Given the description of an element on the screen output the (x, y) to click on. 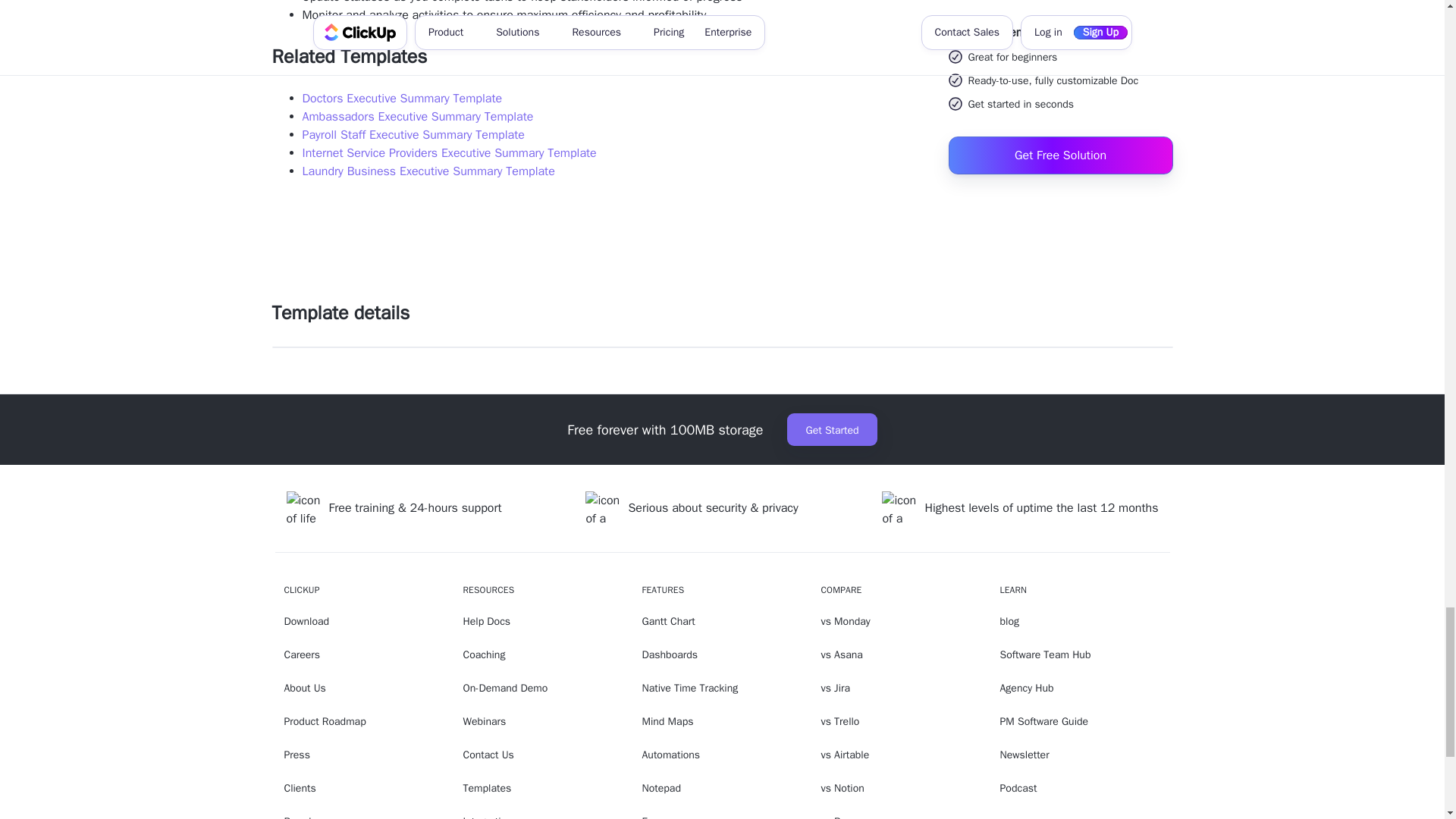
Get Started (831, 429)
Laundry Business Executive Summary Template (427, 171)
Internet Service Providers Executive Summary Template (448, 152)
Doctors Executive Summary Template (401, 98)
Ambassadors Executive Summary Template (416, 116)
Payroll Staff Executive Summary Template (412, 134)
